Given the description of an element on the screen output the (x, y) to click on. 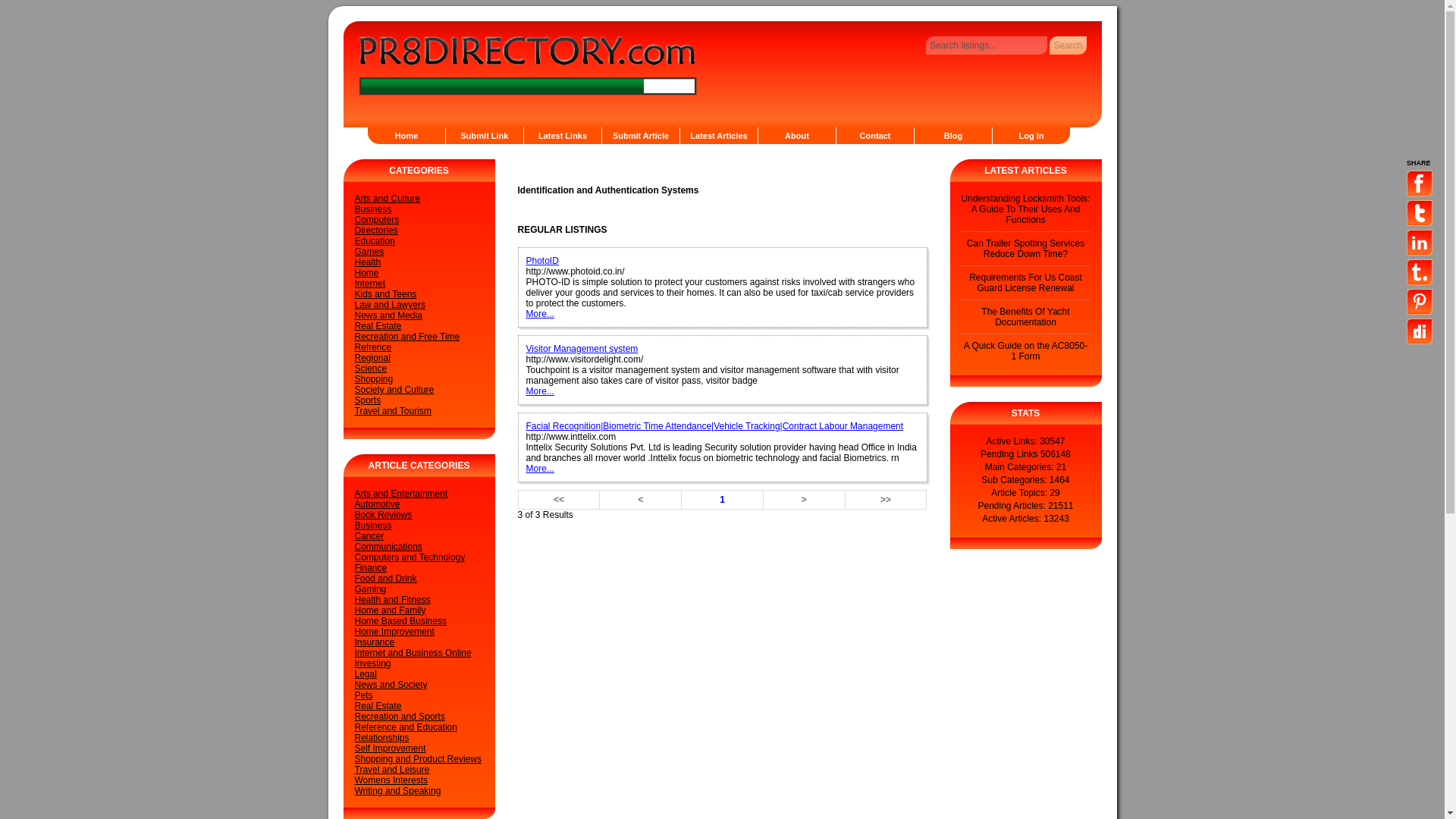
Science (371, 368)
Health (368, 262)
Law and Lawyers (390, 304)
Advertisement (694, 164)
About (796, 135)
Arts and Culture (387, 198)
Last Page (885, 499)
Shopping (374, 378)
News and Media (388, 315)
Travel and Tourism (392, 410)
Real Estate (378, 326)
Contact (874, 135)
Search listings... (986, 45)
Games (369, 251)
Internet (370, 283)
